Given the description of an element on the screen output the (x, y) to click on. 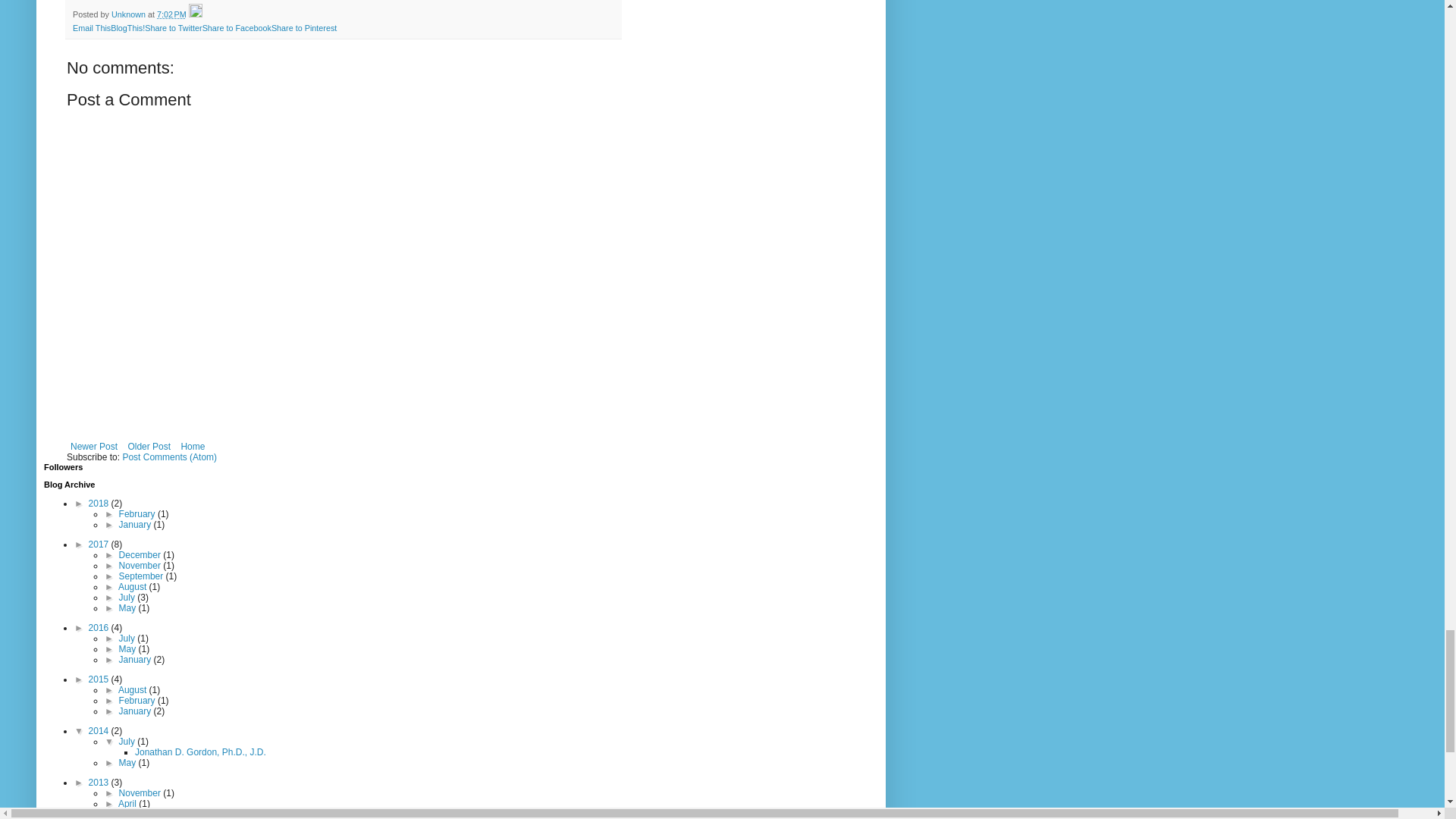
Older Post (148, 446)
2017 (100, 543)
permanent link (171, 13)
September (142, 575)
Share to Pinterest (303, 27)
Older Post (148, 446)
BlogThis! (127, 27)
Share to Twitter (173, 27)
December (141, 554)
Share to Facebook (236, 27)
Edit Post (195, 13)
Home (192, 446)
February (138, 513)
Unknown (130, 13)
2018 (100, 502)
